Given the description of an element on the screen output the (x, y) to click on. 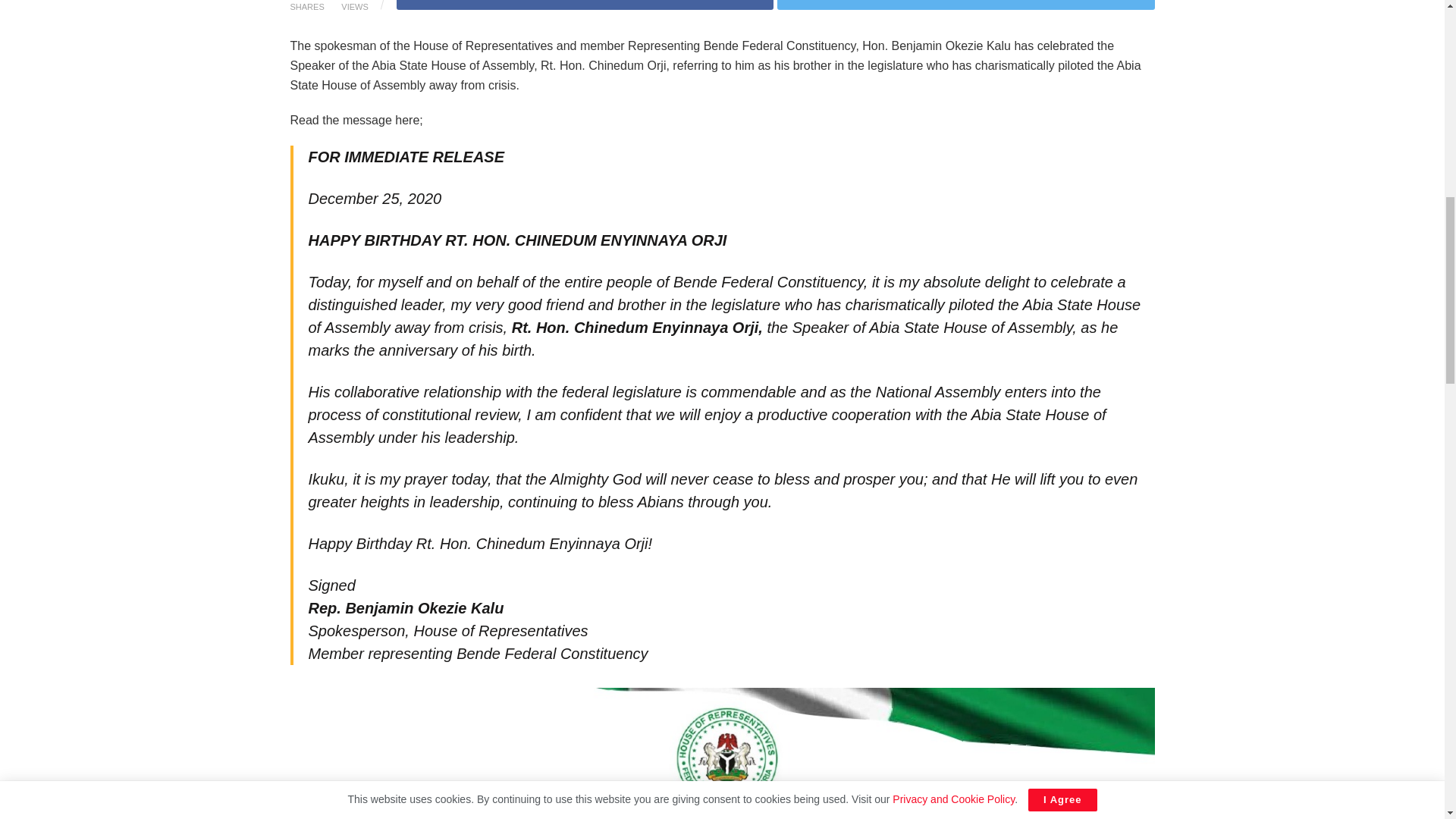
Share on Facebook (584, 4)
Share on Twitter (965, 4)
